Given the description of an element on the screen output the (x, y) to click on. 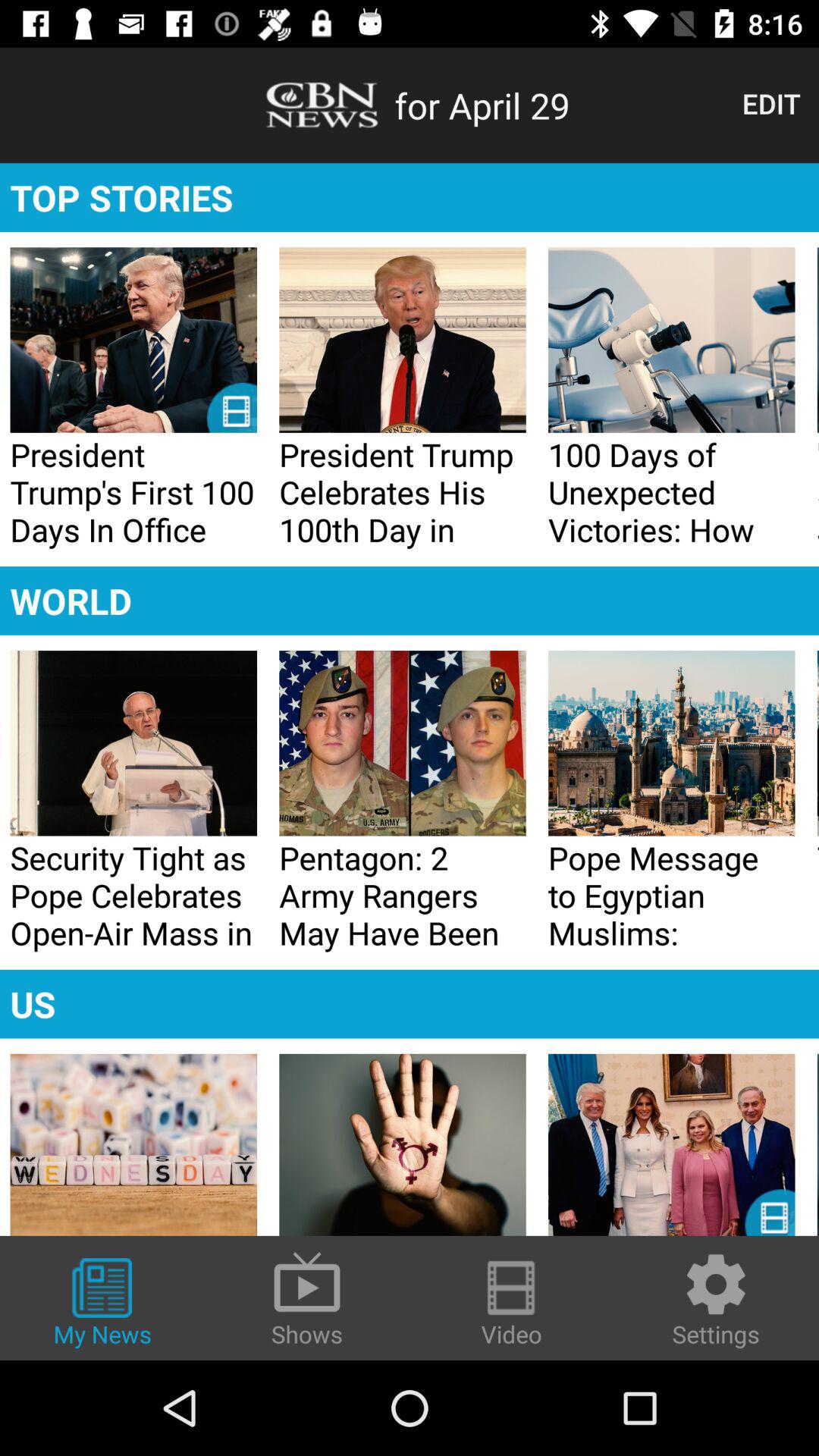
flip to the settings item (715, 1299)
